Given the description of an element on the screen output the (x, y) to click on. 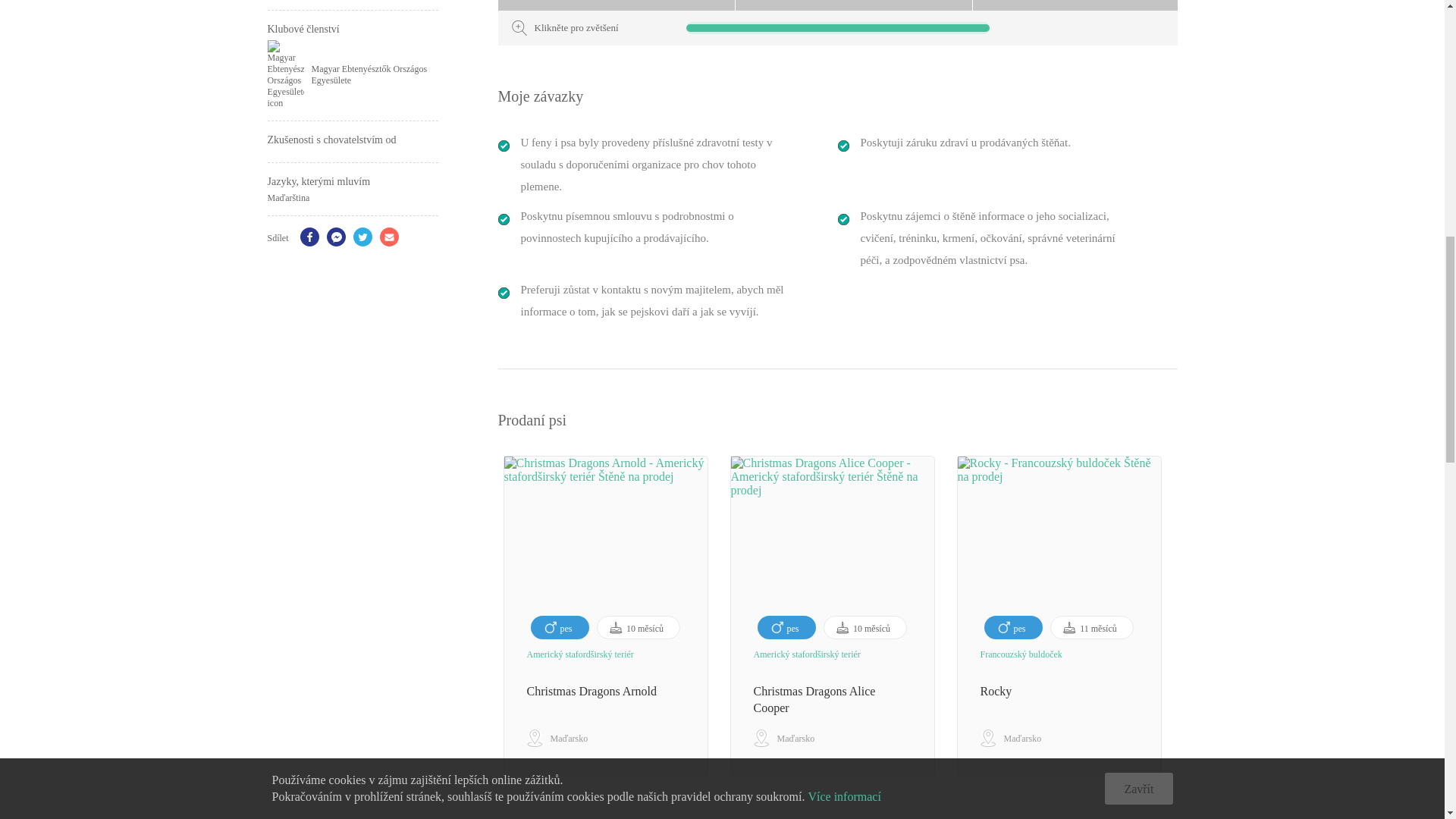
1 (826, 797)
2 (849, 797)
Next (1188, 615)
Previous (487, 615)
